Given the description of an element on the screen output the (x, y) to click on. 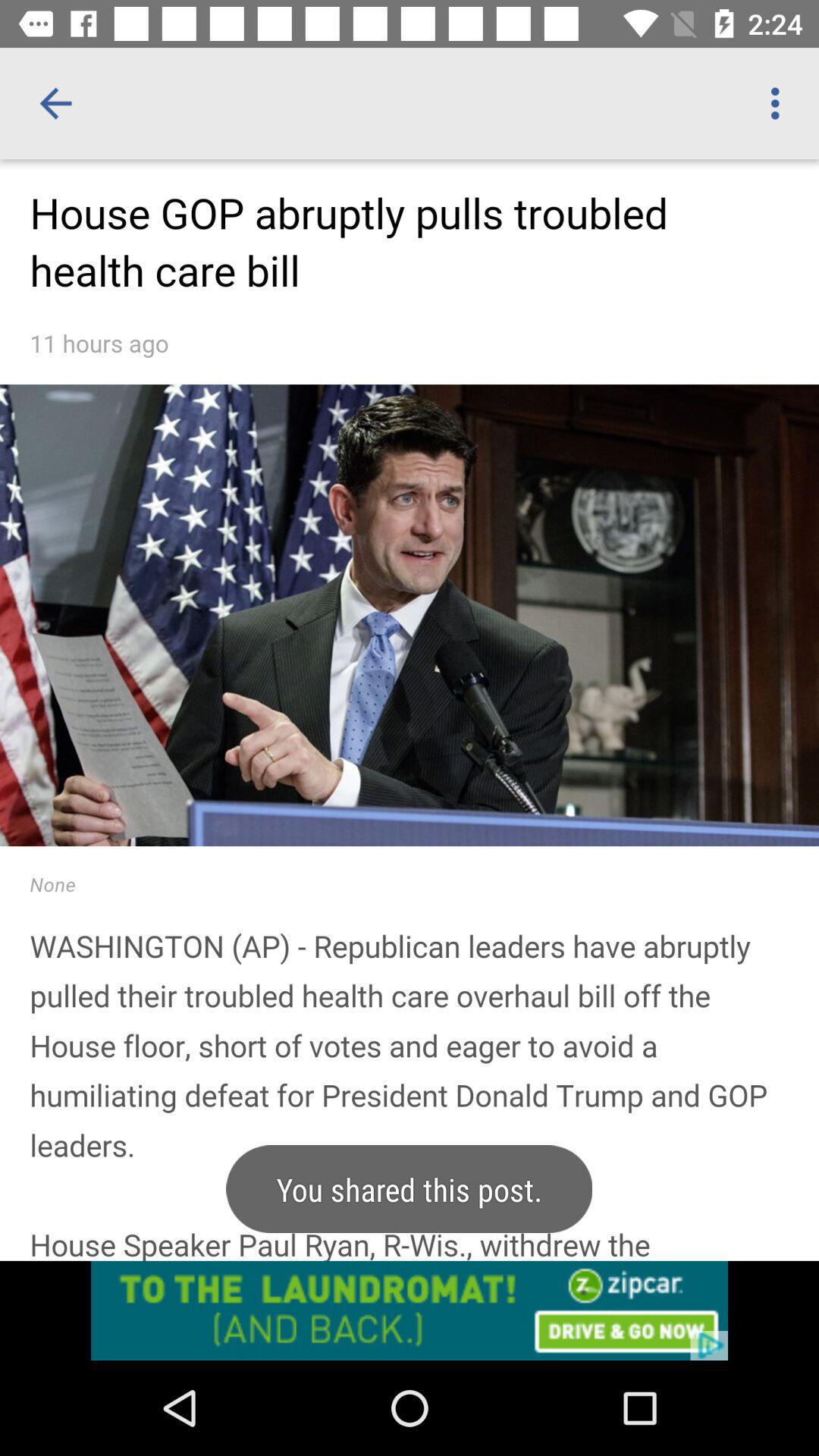
advertisement for zipcar (409, 1310)
